Given the description of an element on the screen output the (x, y) to click on. 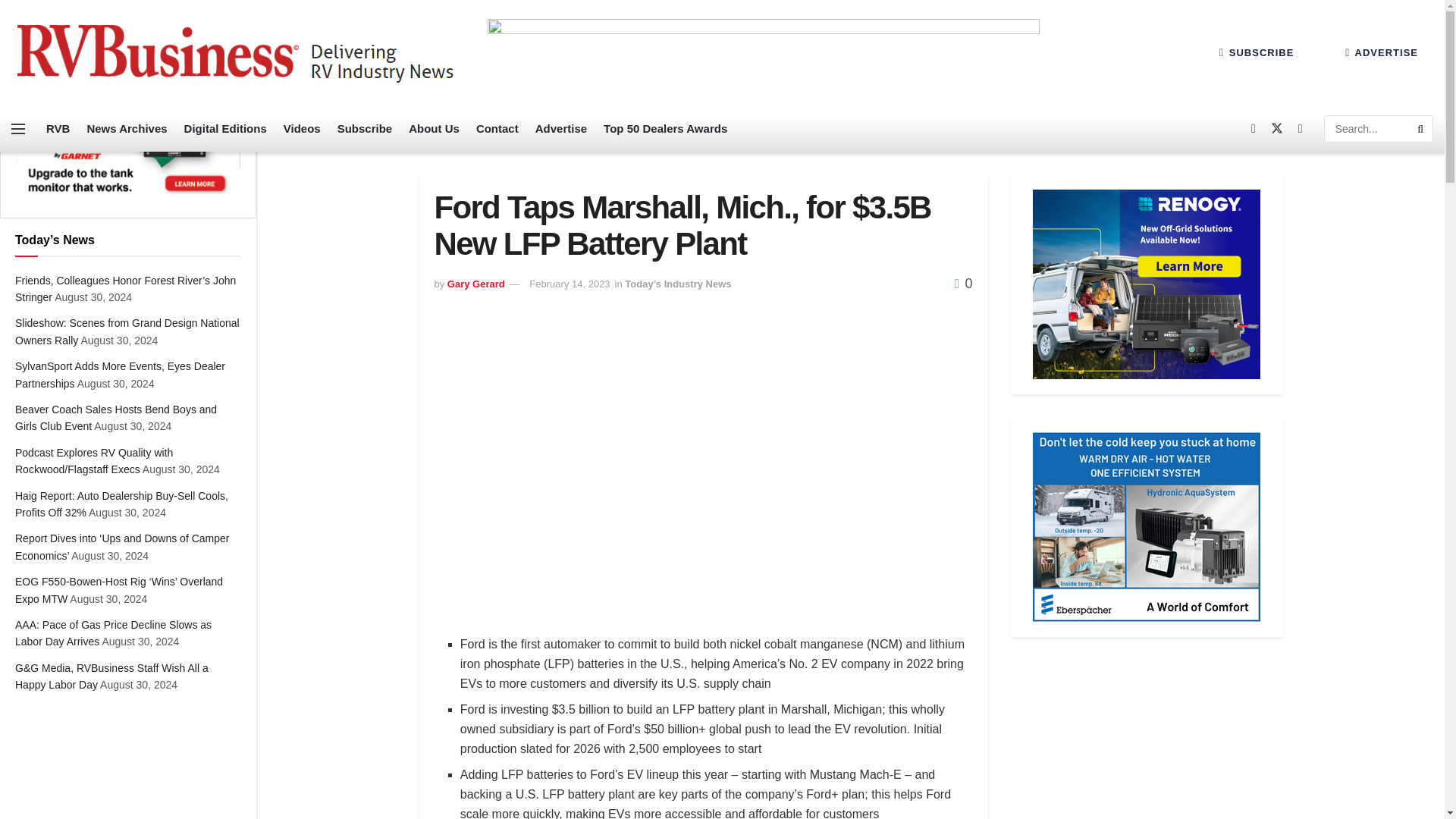
Digital Editions (225, 128)
About Us (434, 128)
Top 50 Dealers Awards (665, 128)
ADVERTISE (1381, 52)
SUBSCRIBE (1256, 52)
Beaver Coach Sales Hosts Bend Boys and Girls Club Event (115, 417)
Advertise (560, 128)
SylvanSport Adds More Events, Eyes Dealer Partnerships (119, 374)
Contact (497, 128)
Subscribe (365, 128)
